Given the description of an element on the screen output the (x, y) to click on. 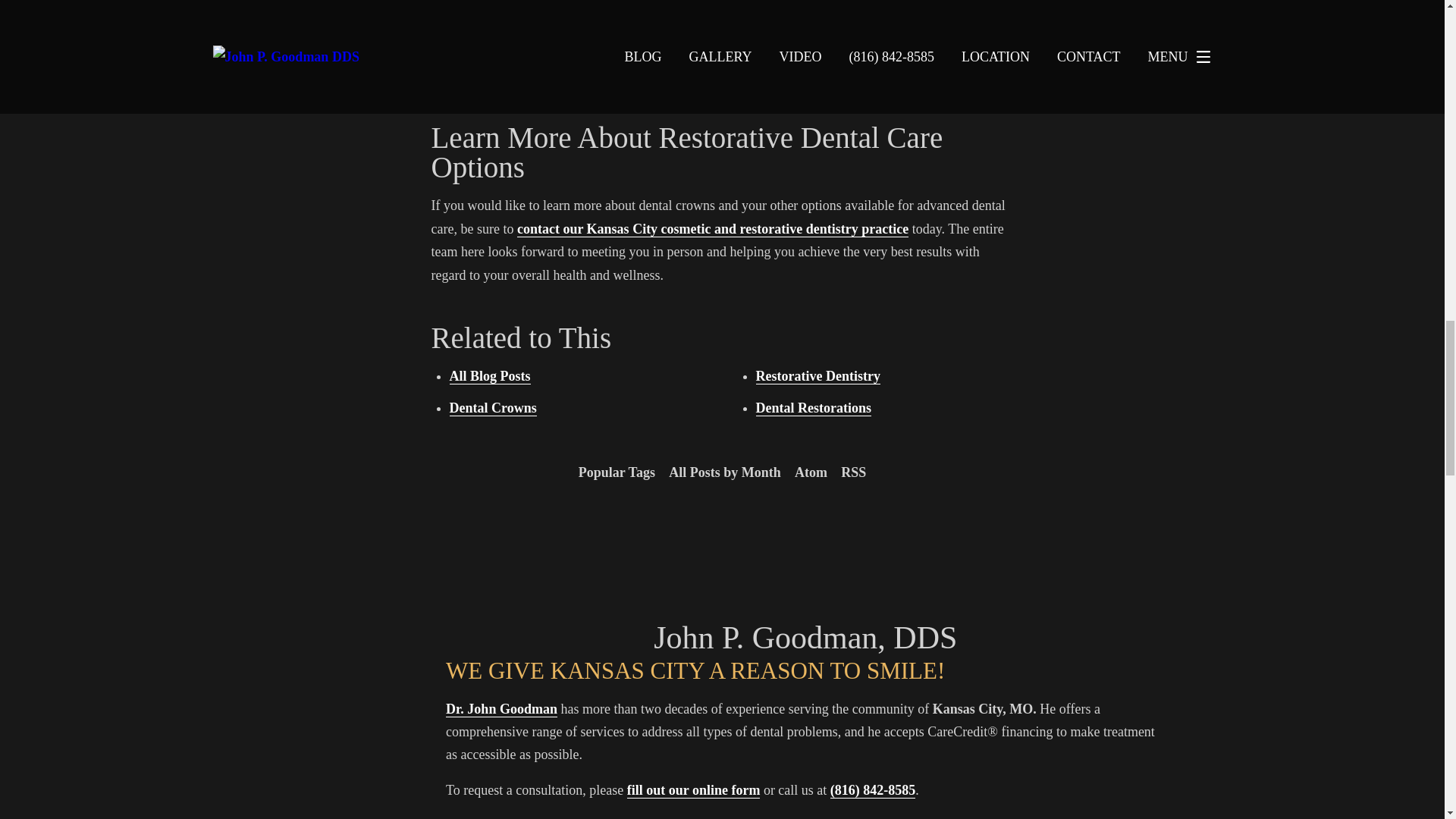
Popular Tags (617, 472)
RSS (853, 472)
Restorative Dentistry (817, 376)
All Blog Posts (488, 376)
Dental Crowns (491, 408)
All Posts by Month (724, 472)
Atom (810, 472)
Dental Restorations (812, 408)
Dr. John Goodman (501, 709)
fill out our online form (693, 790)
